Given the description of an element on the screen output the (x, y) to click on. 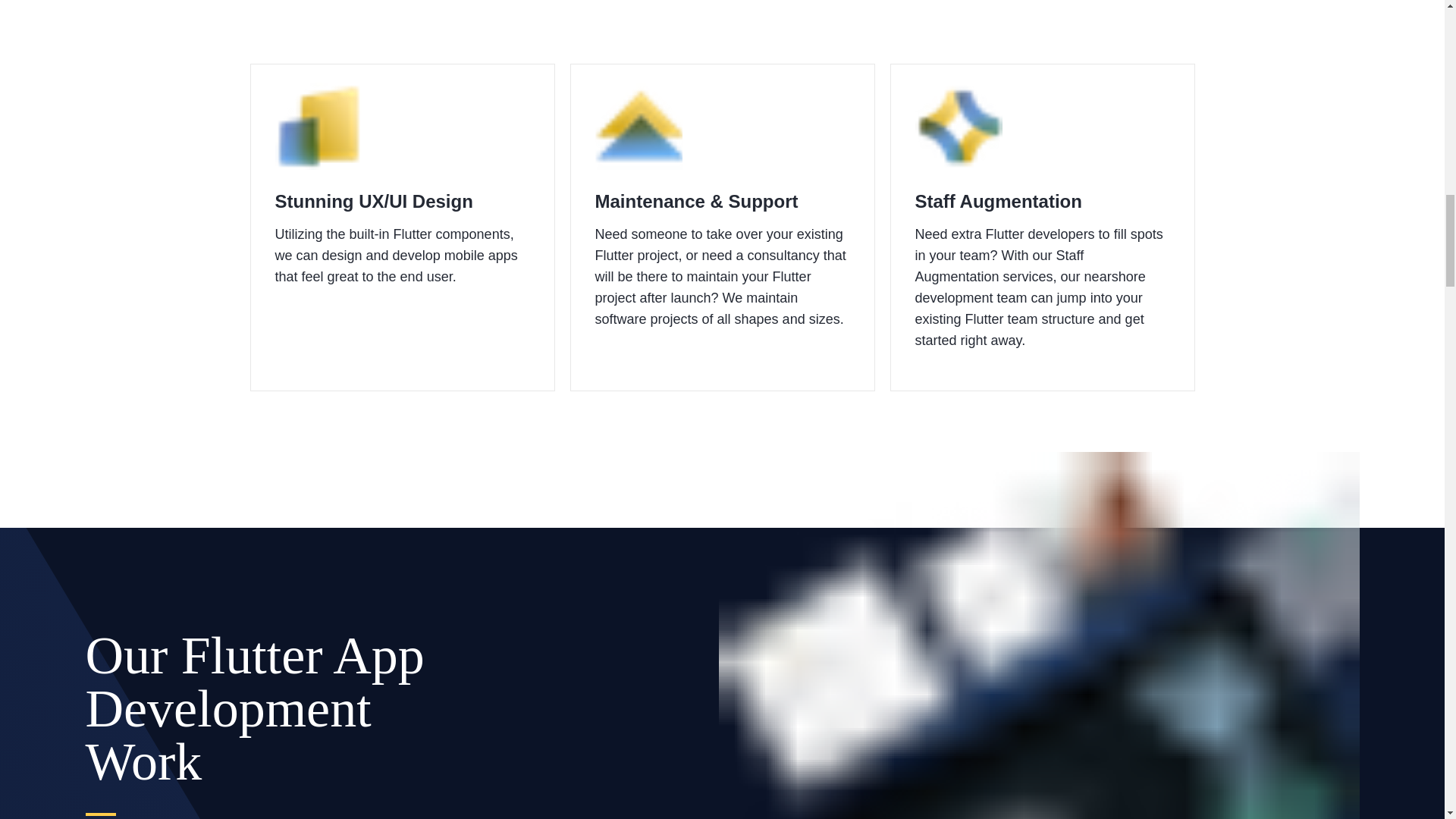
Staff Augmentation (1041, 201)
